Given the description of an element on the screen output the (x, y) to click on. 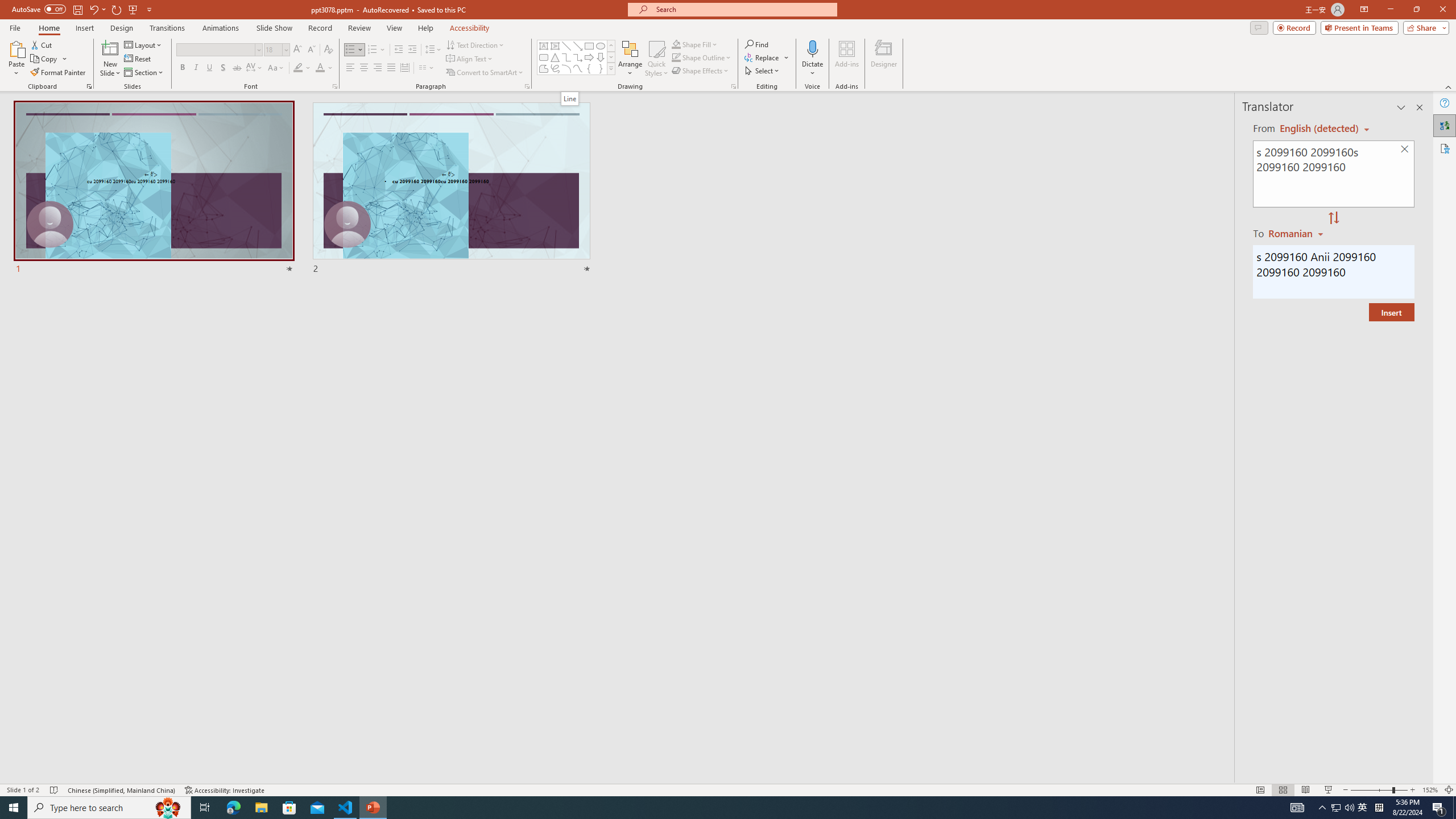
Text Highlight Color Yellow (297, 67)
Office Clipboard... (88, 85)
Align Text (470, 58)
Vertical Text Box (554, 45)
Underline (209, 67)
Translator (1444, 125)
Text Highlight Color (302, 67)
